Given the description of an element on the screen output the (x, y) to click on. 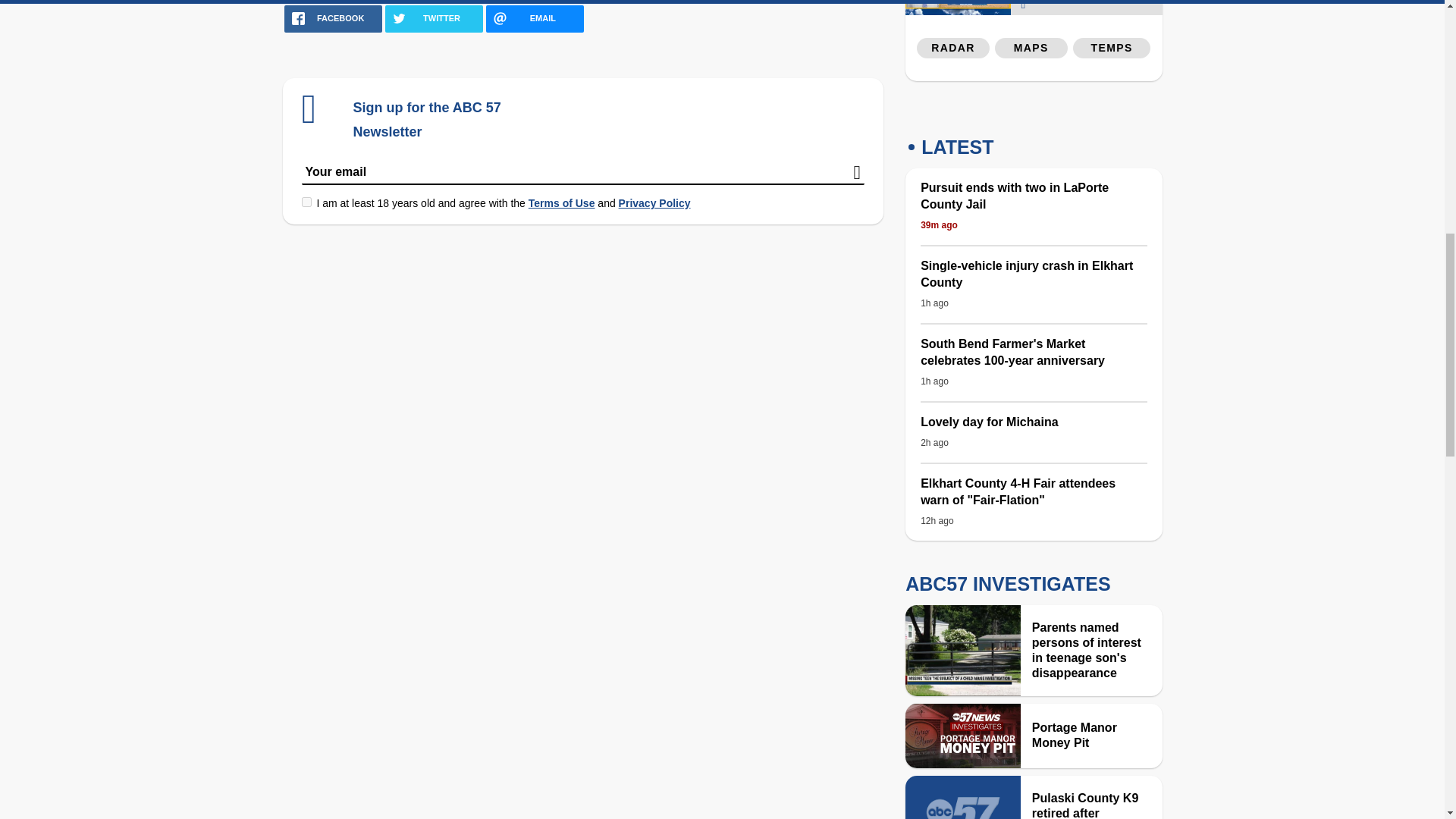
on (306, 202)
